Given the description of an element on the screen output the (x, y) to click on. 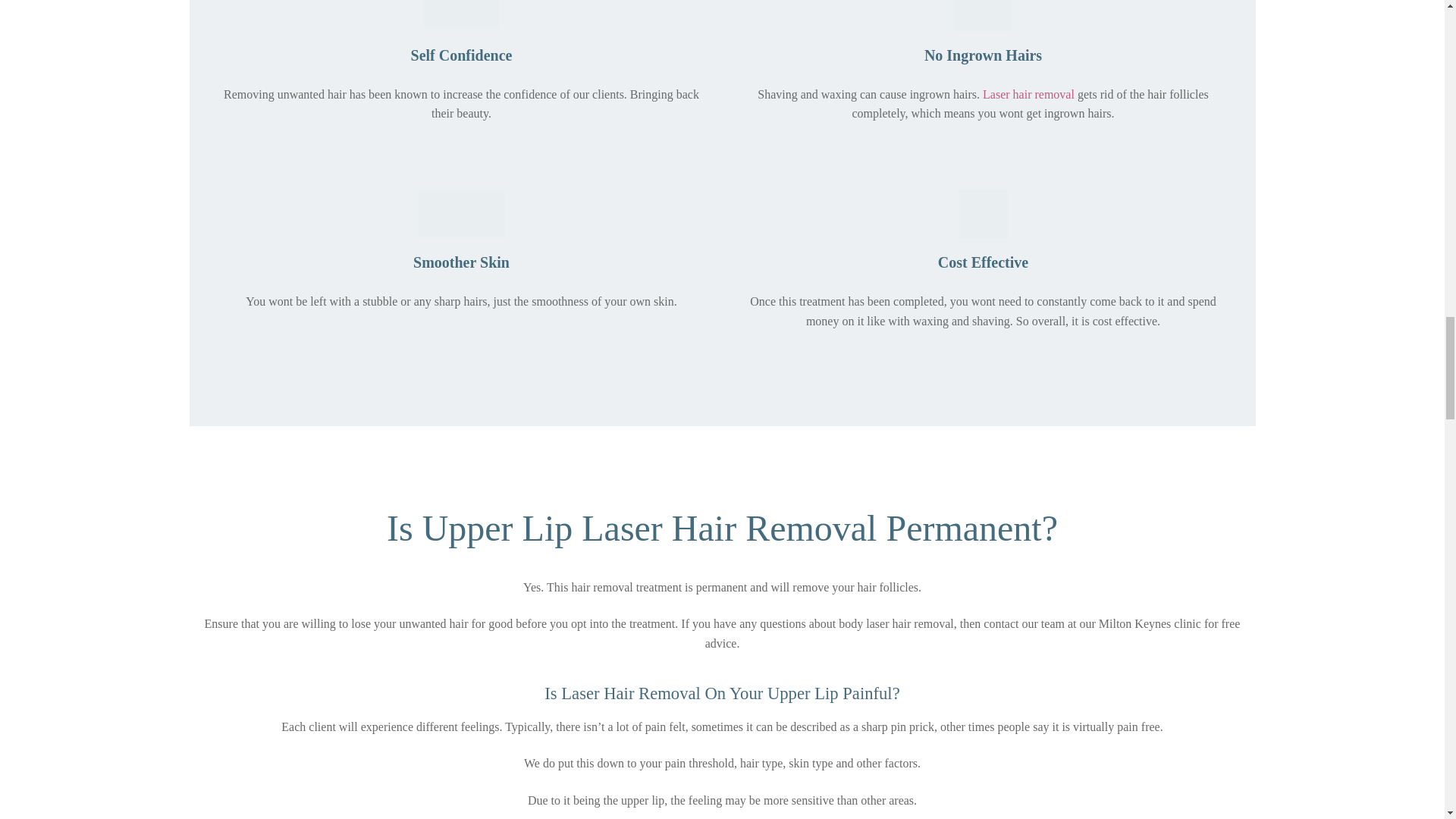
physical-mental-benefits-icon (461, 15)
skin-tone-muscle-tension-icon (461, 213)
cost-effective-icon (983, 213)
reduced-hair-growth-icon (982, 15)
